Given the description of an element on the screen output the (x, y) to click on. 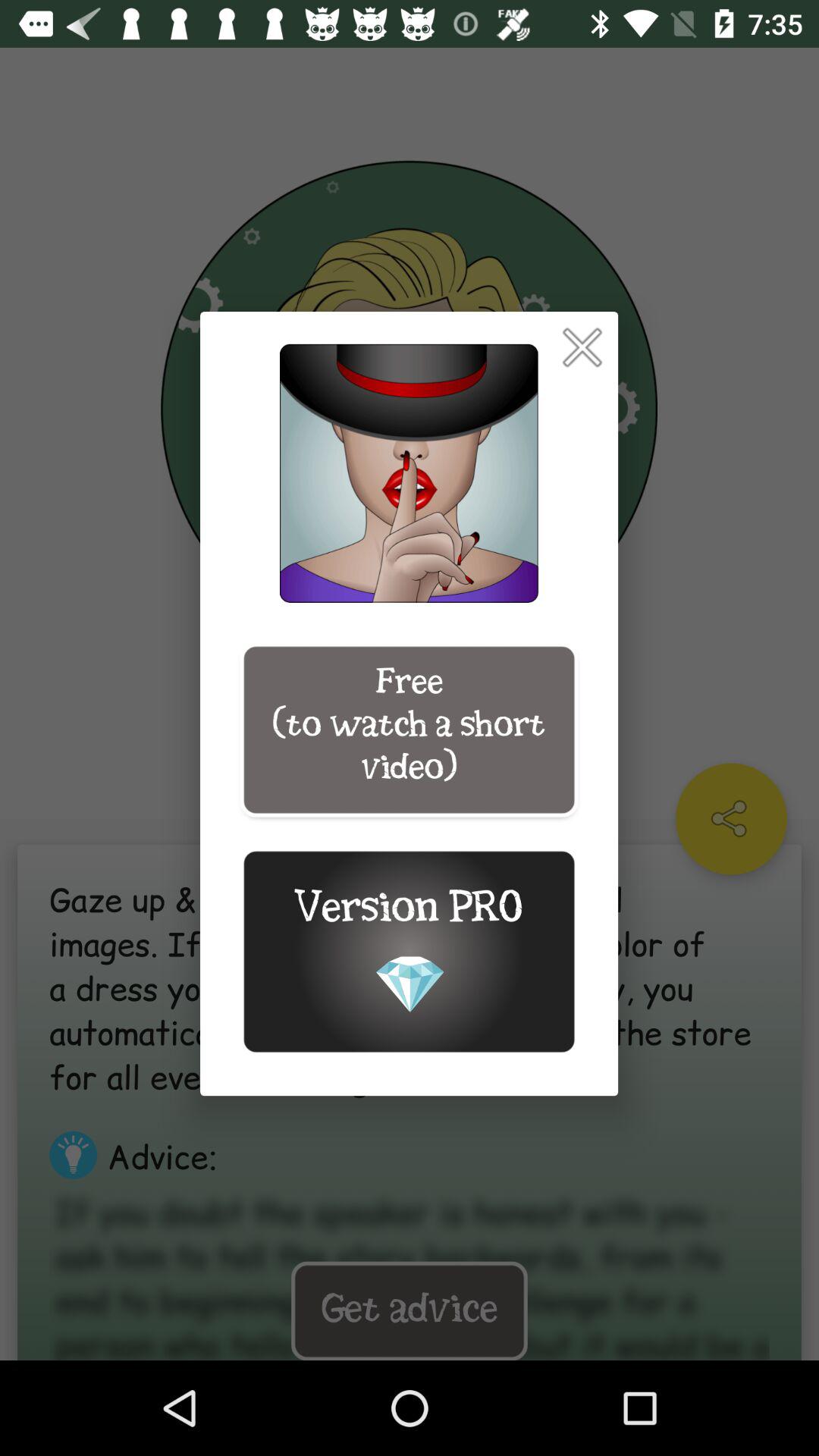
press free to watch icon (409, 729)
